Given the description of an element on the screen output the (x, y) to click on. 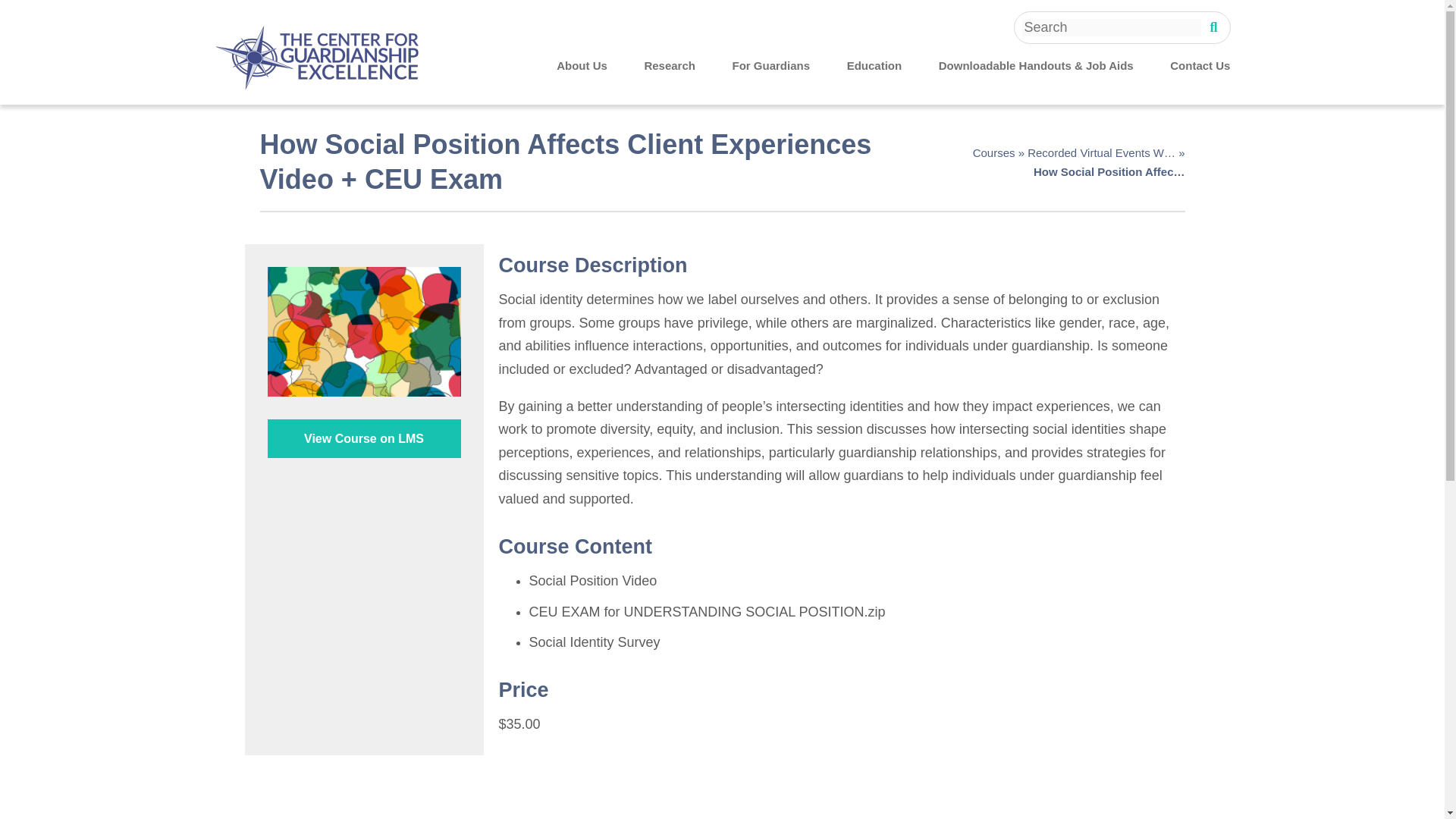
Education (874, 66)
About Us (581, 66)
Courses (993, 152)
View Course on LMS (363, 438)
Research (669, 66)
Contact Us (1200, 66)
For Guardians (771, 66)
